Given the description of an element on the screen output the (x, y) to click on. 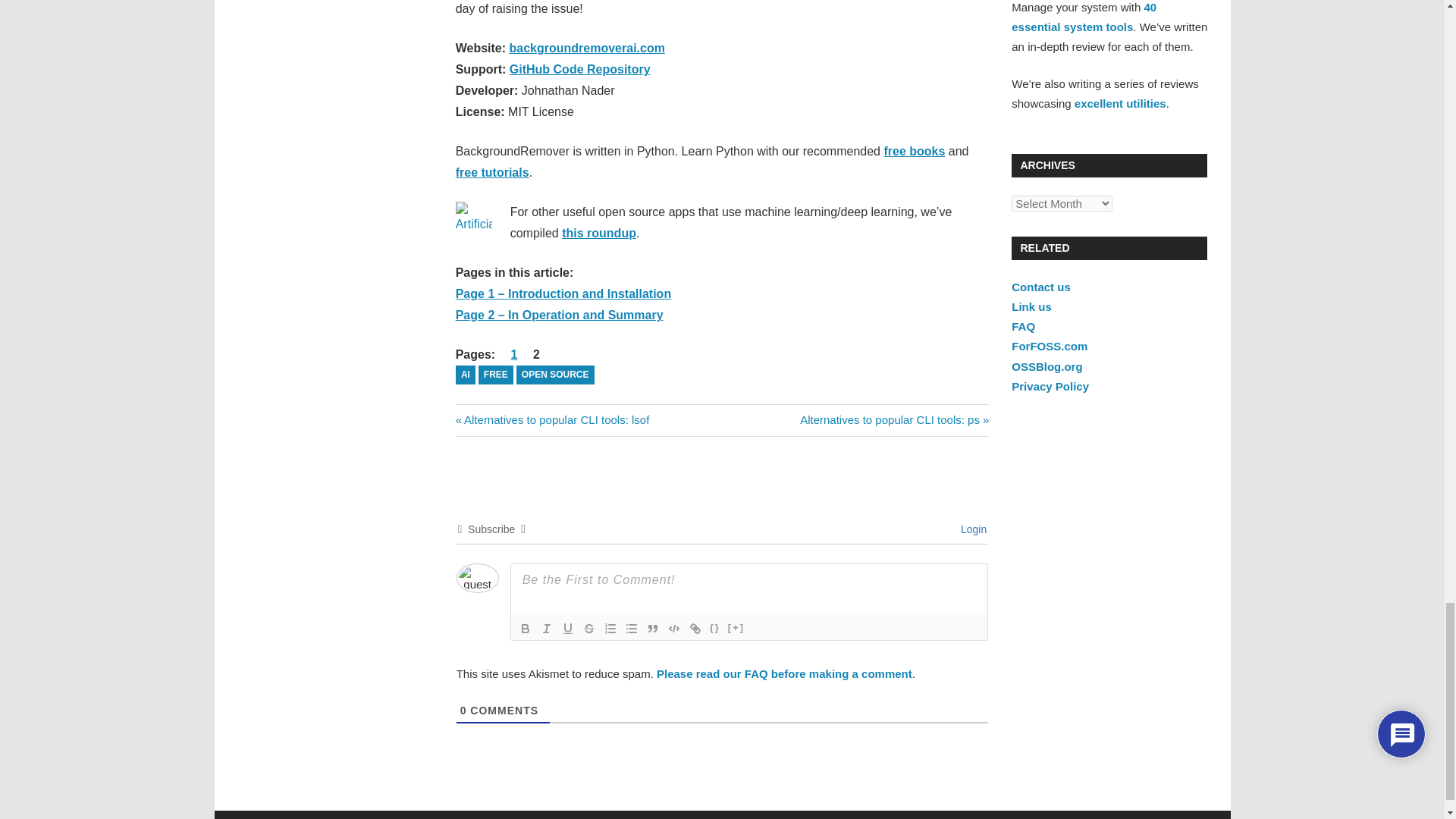
Blockquote (652, 628)
this roundup (599, 232)
Bold (525, 628)
free tutorials (492, 172)
Login (971, 529)
backgroundremoverai.com (587, 47)
GitHub Code Repository (552, 419)
Underline (579, 69)
Link (567, 628)
